Given the description of an element on the screen output the (x, y) to click on. 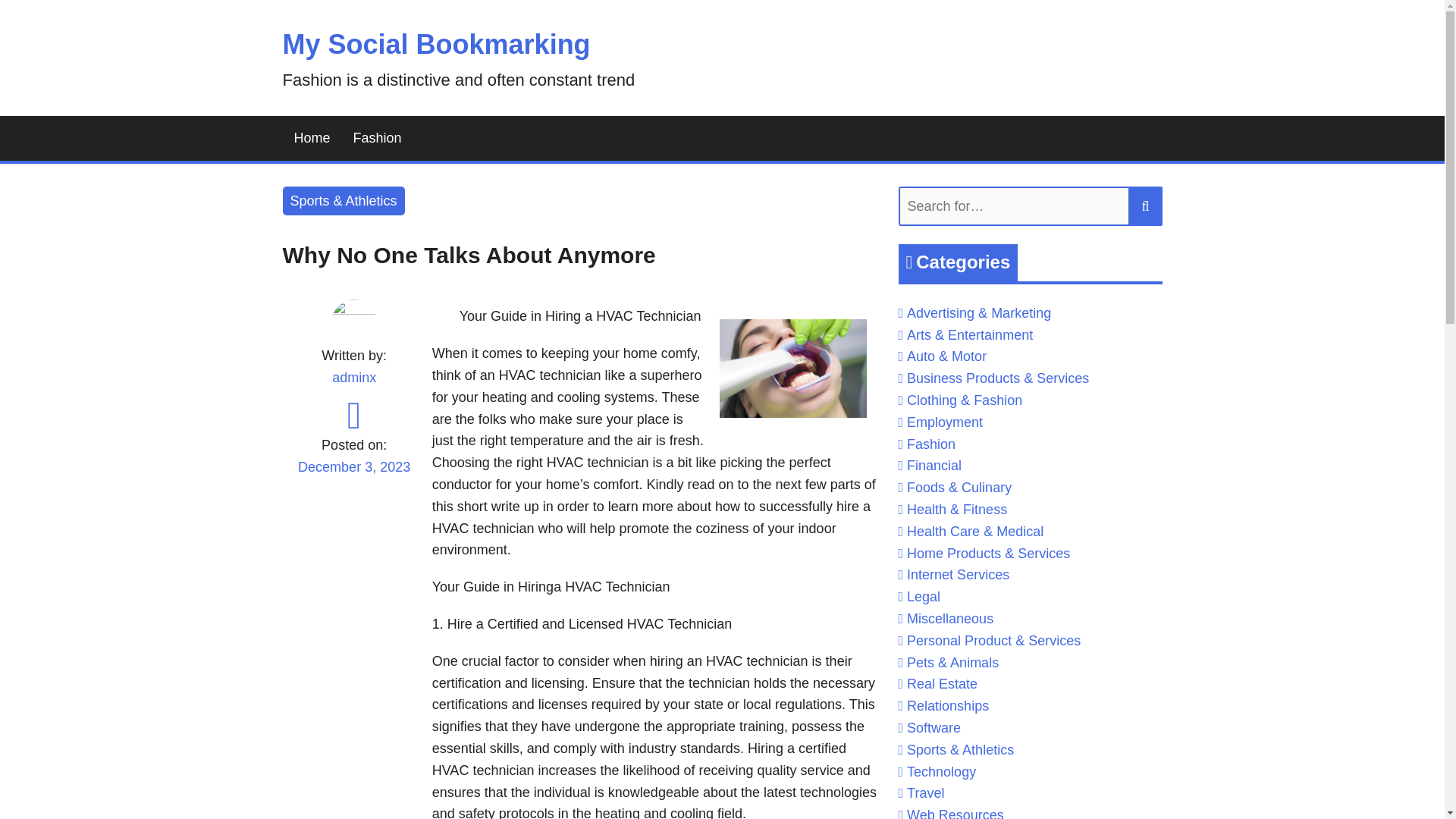
Internet Services (958, 574)
Web Resources (955, 813)
Miscellaneous (949, 618)
My Social Bookmarking (435, 43)
Travel (925, 792)
December 3, 2023 (353, 476)
Fashion (377, 138)
Fashion (931, 444)
Software (933, 727)
Real Estate (941, 683)
Relationships (947, 705)
Technology (941, 771)
Legal (923, 596)
Search for: (1029, 206)
Home (311, 138)
